Given the description of an element on the screen output the (x, y) to click on. 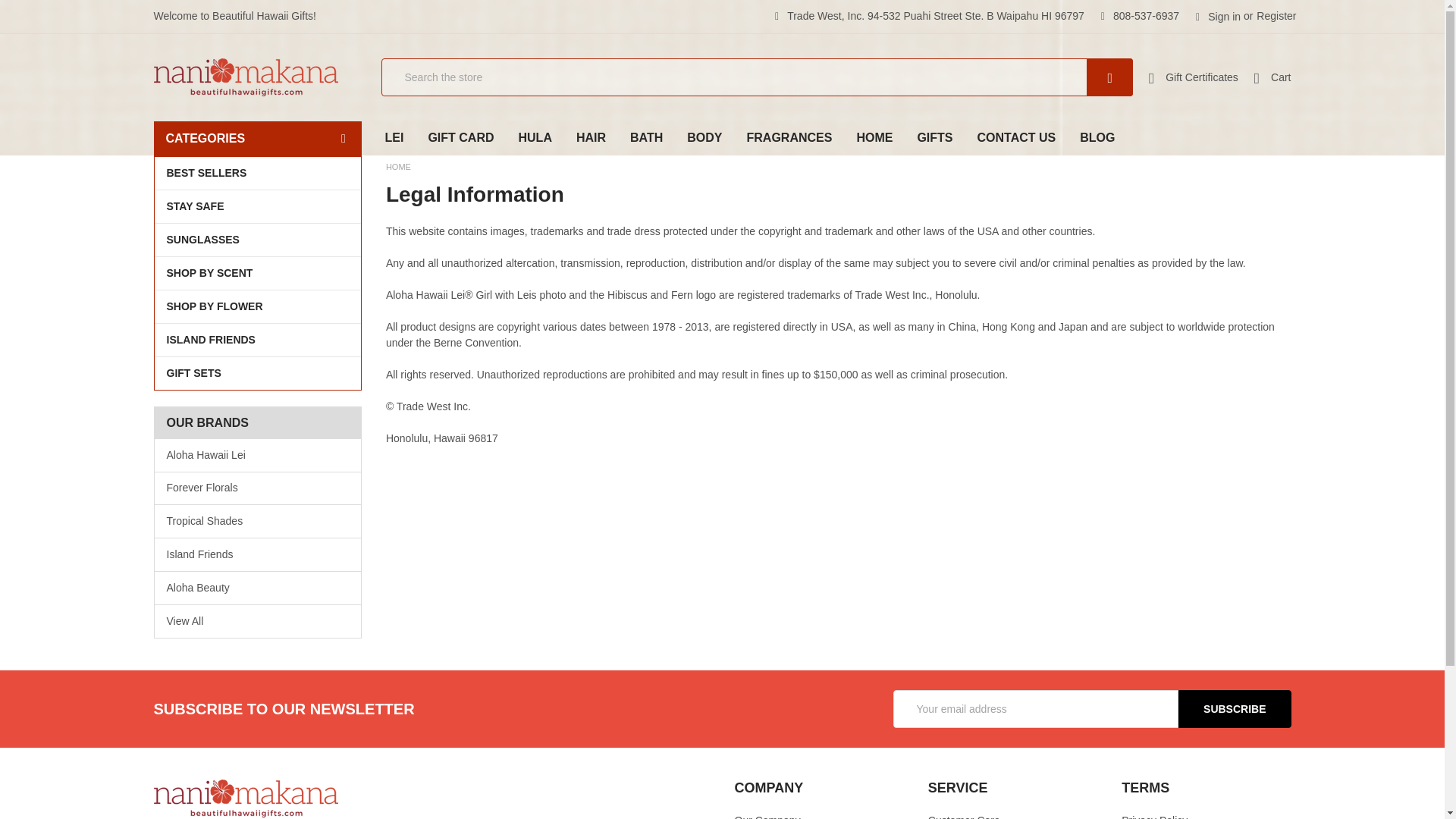
Search (1087, 77)
Cart (1272, 76)
Aloha Hawaii Lei (258, 455)
Island Friends (258, 554)
Beautiful Hawaii Gifts (244, 798)
Tropical Shades (258, 521)
Search (1087, 77)
Subscribe (1233, 709)
Forever Florals (258, 487)
Gift Certificates (1200, 76)
